Given the description of an element on the screen output the (x, y) to click on. 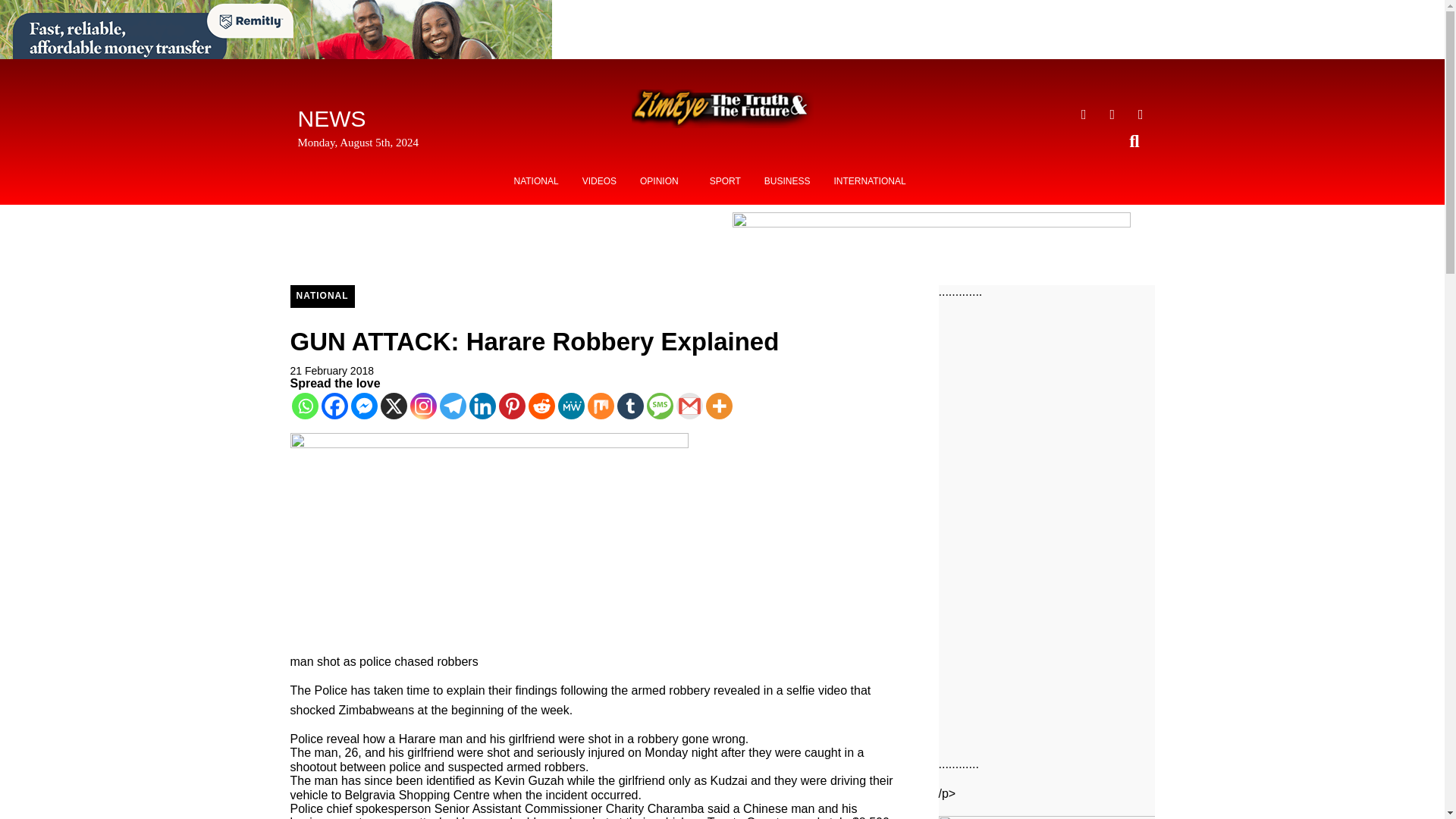
Linkedin (481, 406)
INTERNATIONAL (868, 181)
SPORT (725, 181)
Reddit (540, 406)
BUSINESS (787, 181)
Facebook (334, 406)
Instagram (422, 406)
Mix (599, 406)
VIDEOS (598, 181)
X (393, 406)
NATIONAL (321, 296)
Search (1137, 141)
NATIONAL (536, 181)
Facebook Messenger (363, 406)
MeWe (571, 406)
